Given the description of an element on the screen output the (x, y) to click on. 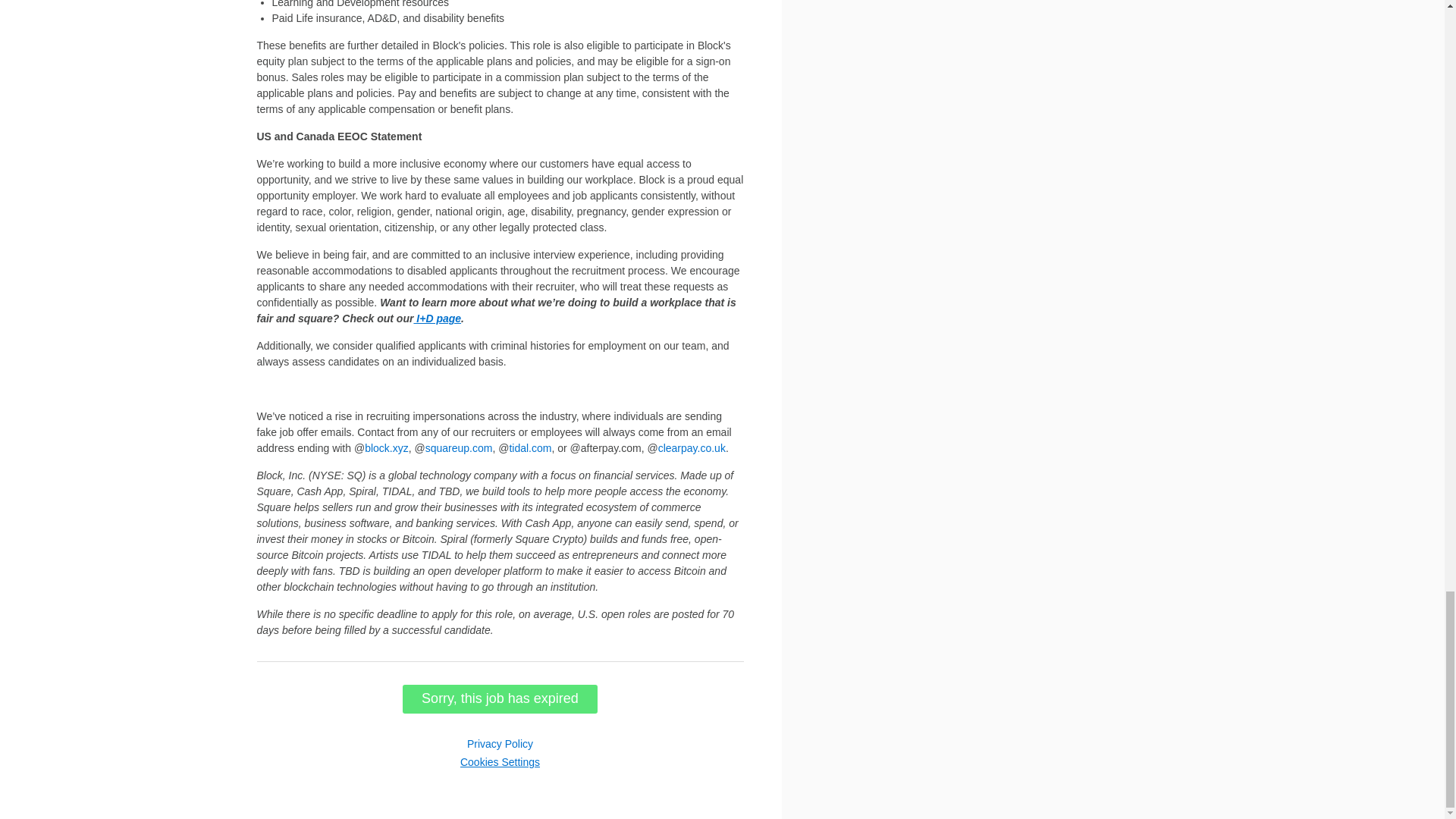
Privacy Policy (499, 743)
Sorry, this job has expired (499, 698)
clearpay.co.uk (691, 448)
squareup.com (459, 448)
tidal.com (529, 448)
block.xyz (387, 448)
Cookies Settings (500, 761)
